Given the description of an element on the screen output the (x, y) to click on. 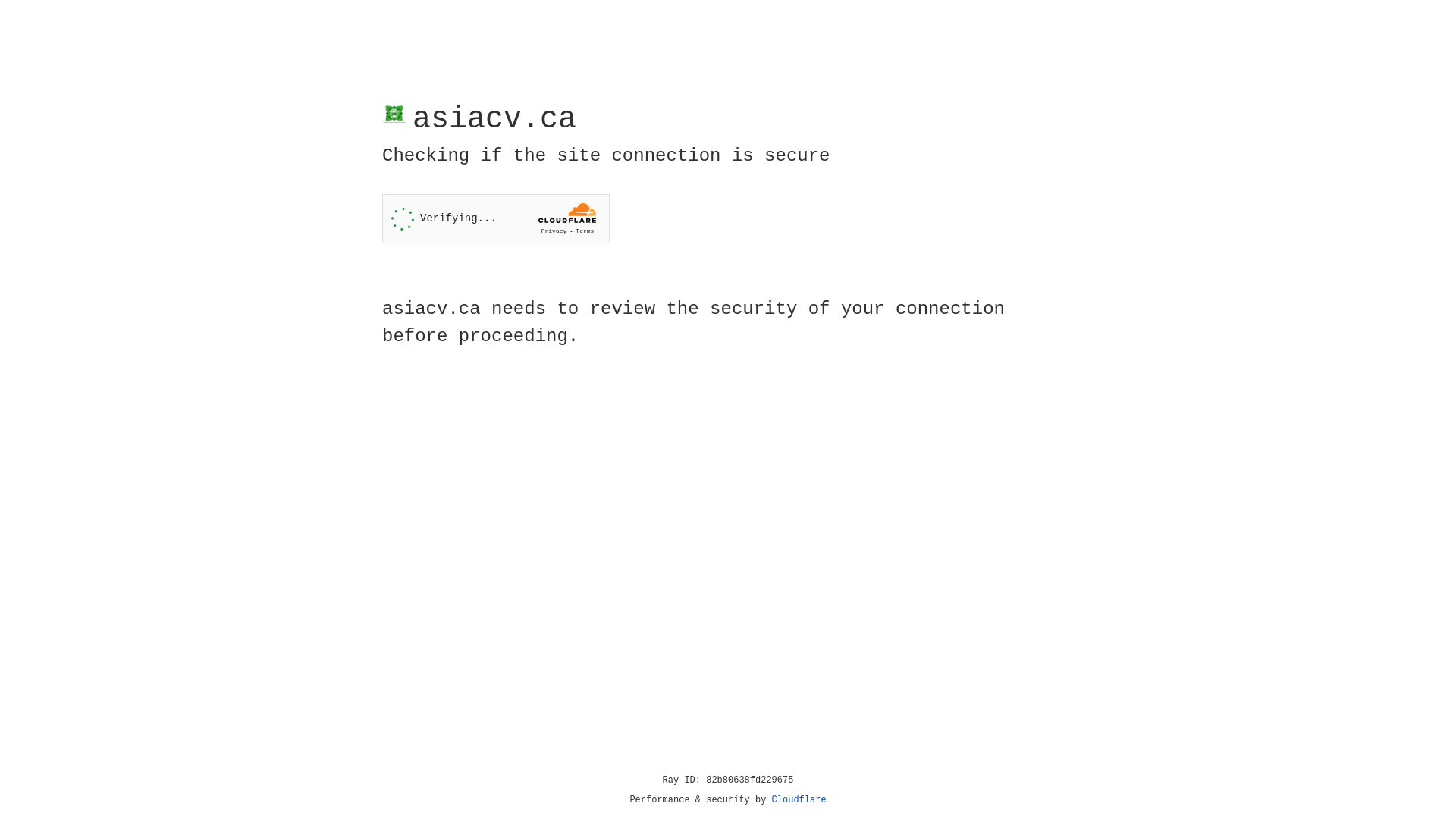
Widget containing a Cloudflare security challenge Element type: hover (495, 218)
Cloudflare Element type: text (798, 799)
